Given the description of an element on the screen output the (x, y) to click on. 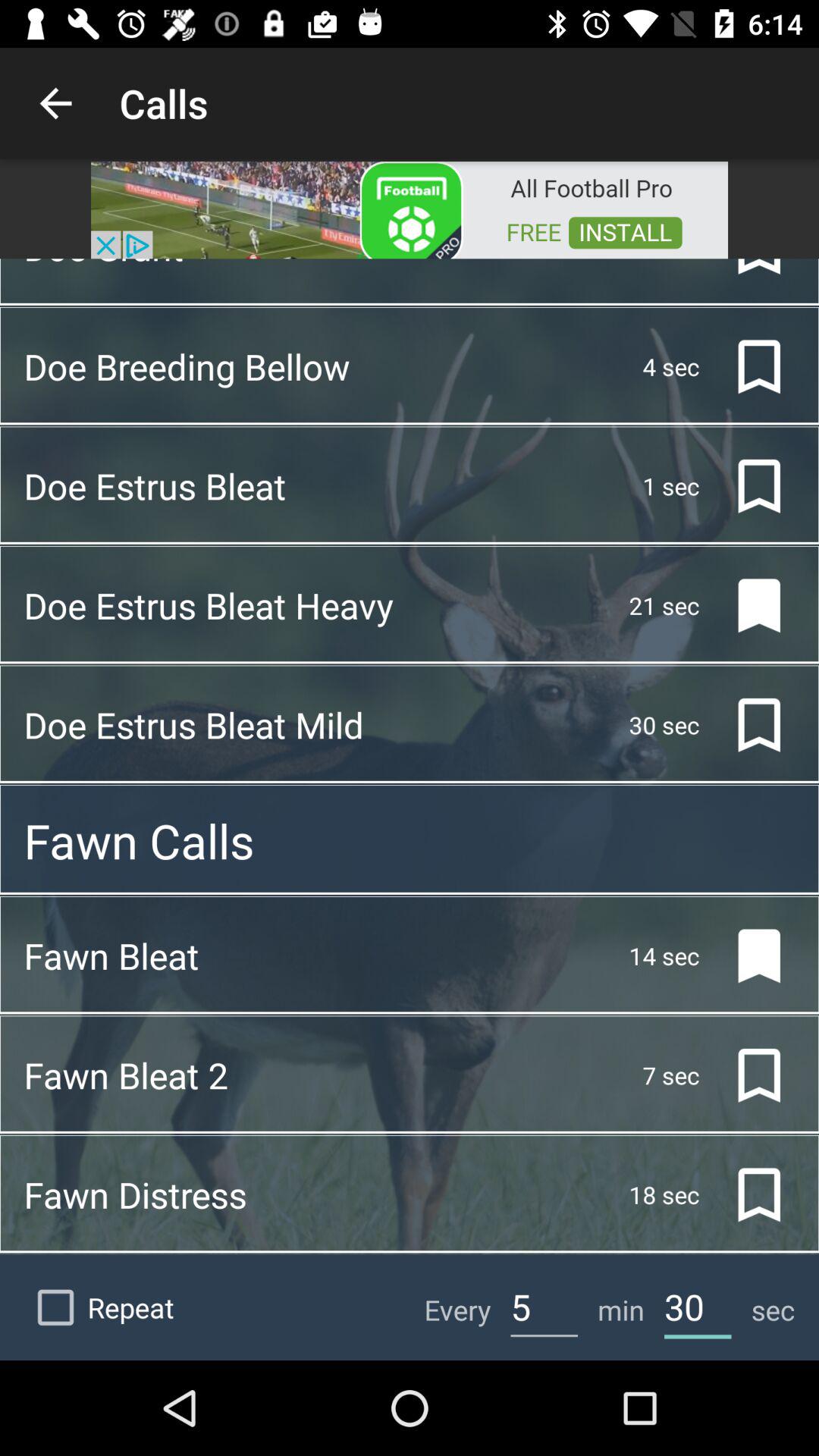
links to external advertisement (409, 208)
